Given the description of an element on the screen output the (x, y) to click on. 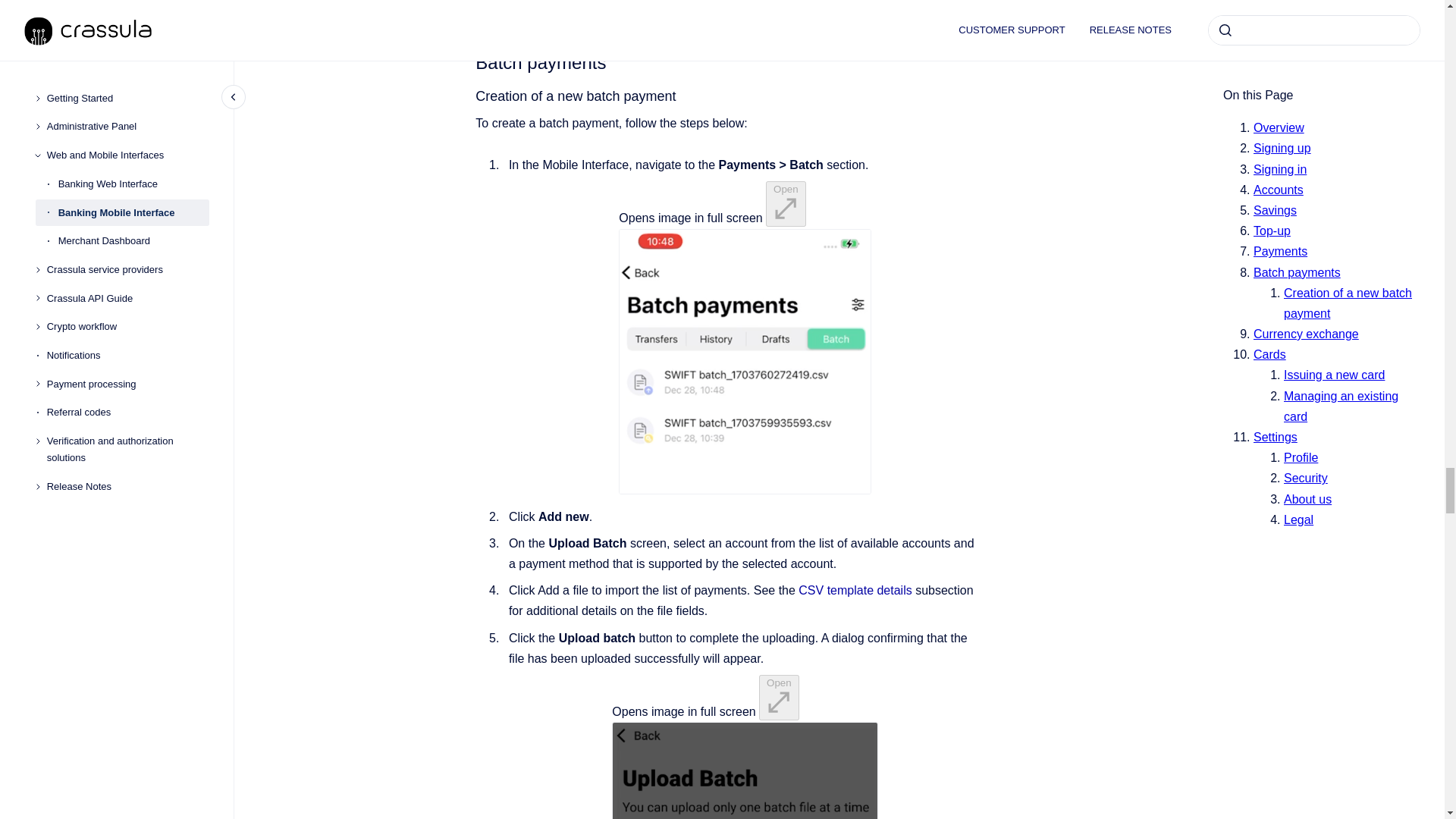
Copy to clipboard (468, 95)
Copy to clipboard (468, 60)
